Given the description of an element on the screen output the (x, y) to click on. 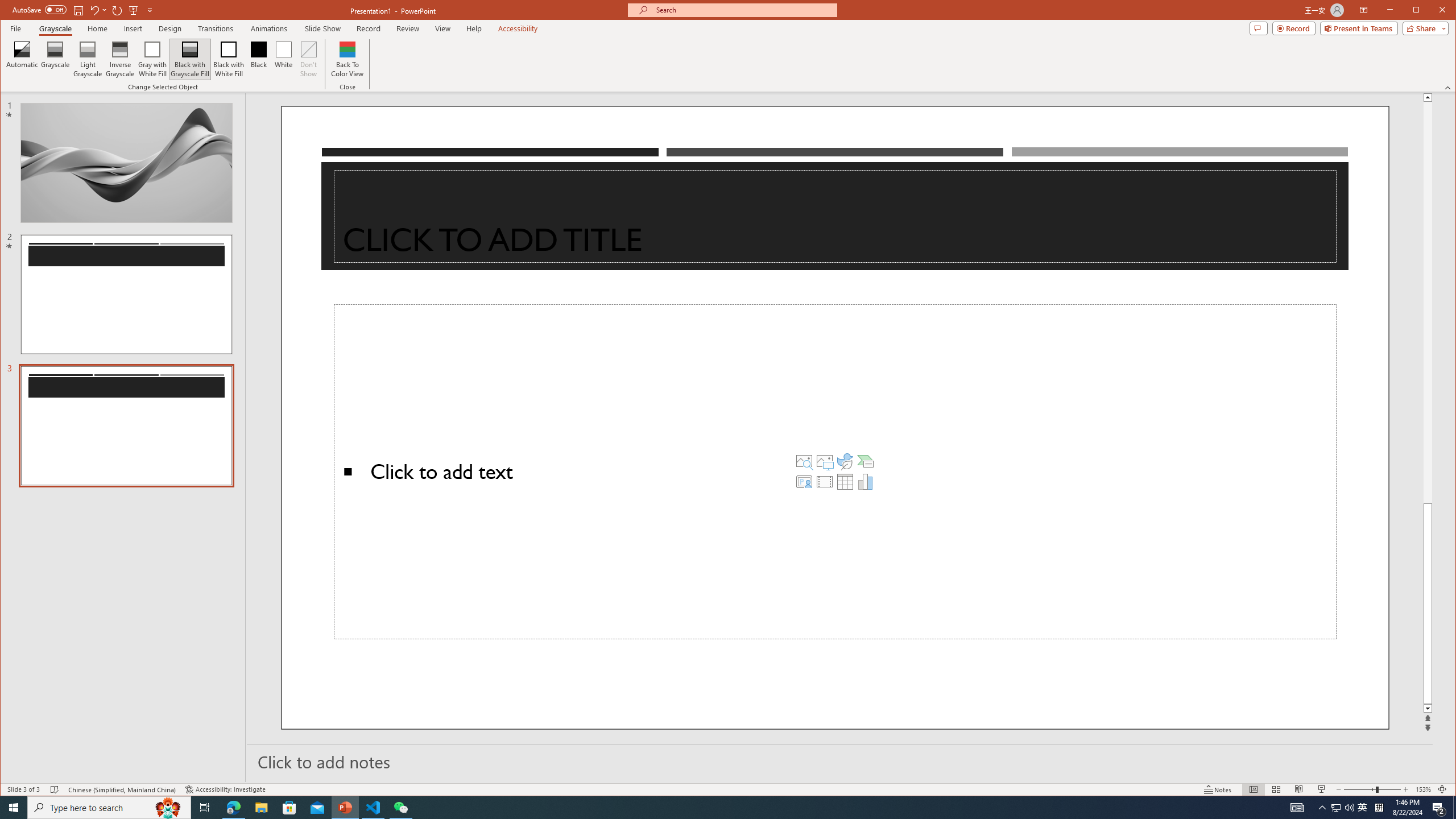
Notification Chevron (1322, 807)
Inverse Grayscale (119, 59)
Content Placeholder (834, 471)
Page up (1427, 302)
Running applications (707, 807)
Light Grayscale (87, 59)
